Given the description of an element on the screen output the (x, y) to click on. 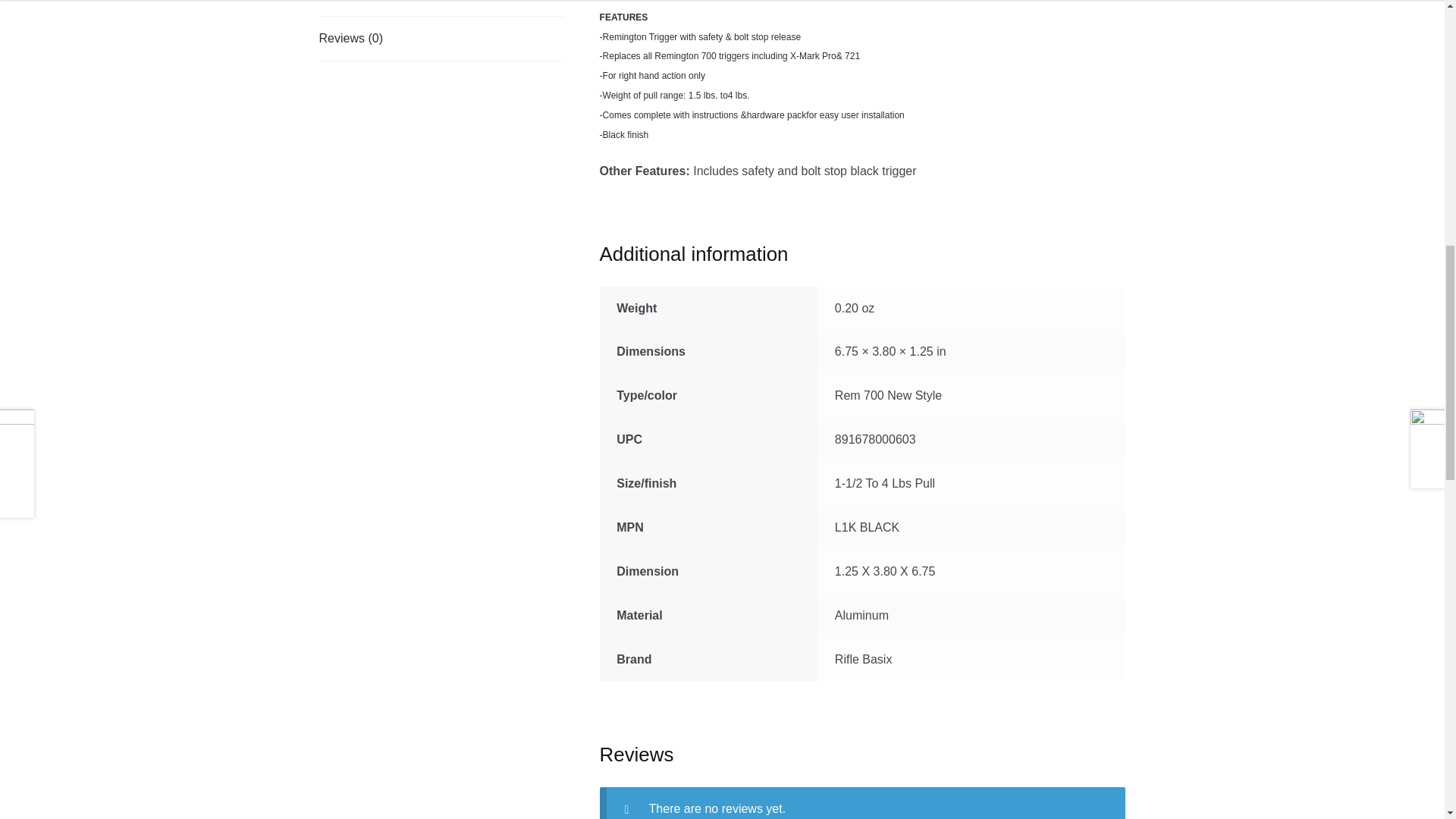
Additional information (441, 7)
